Given the description of an element on the screen output the (x, y) to click on. 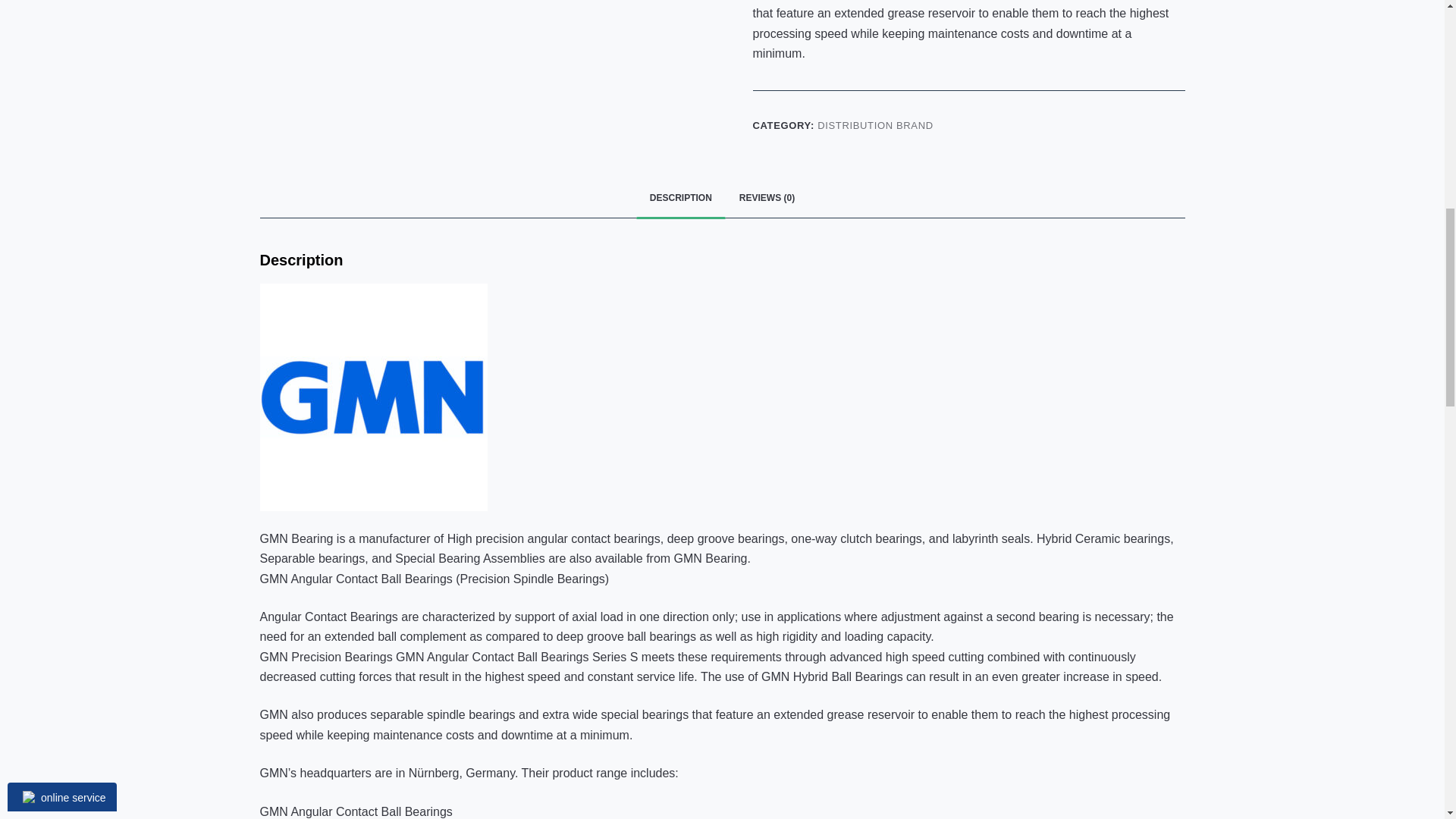
DESCRIPTION (680, 198)
DISTRIBUTION BRAND (874, 125)
